Given the description of an element on the screen output the (x, y) to click on. 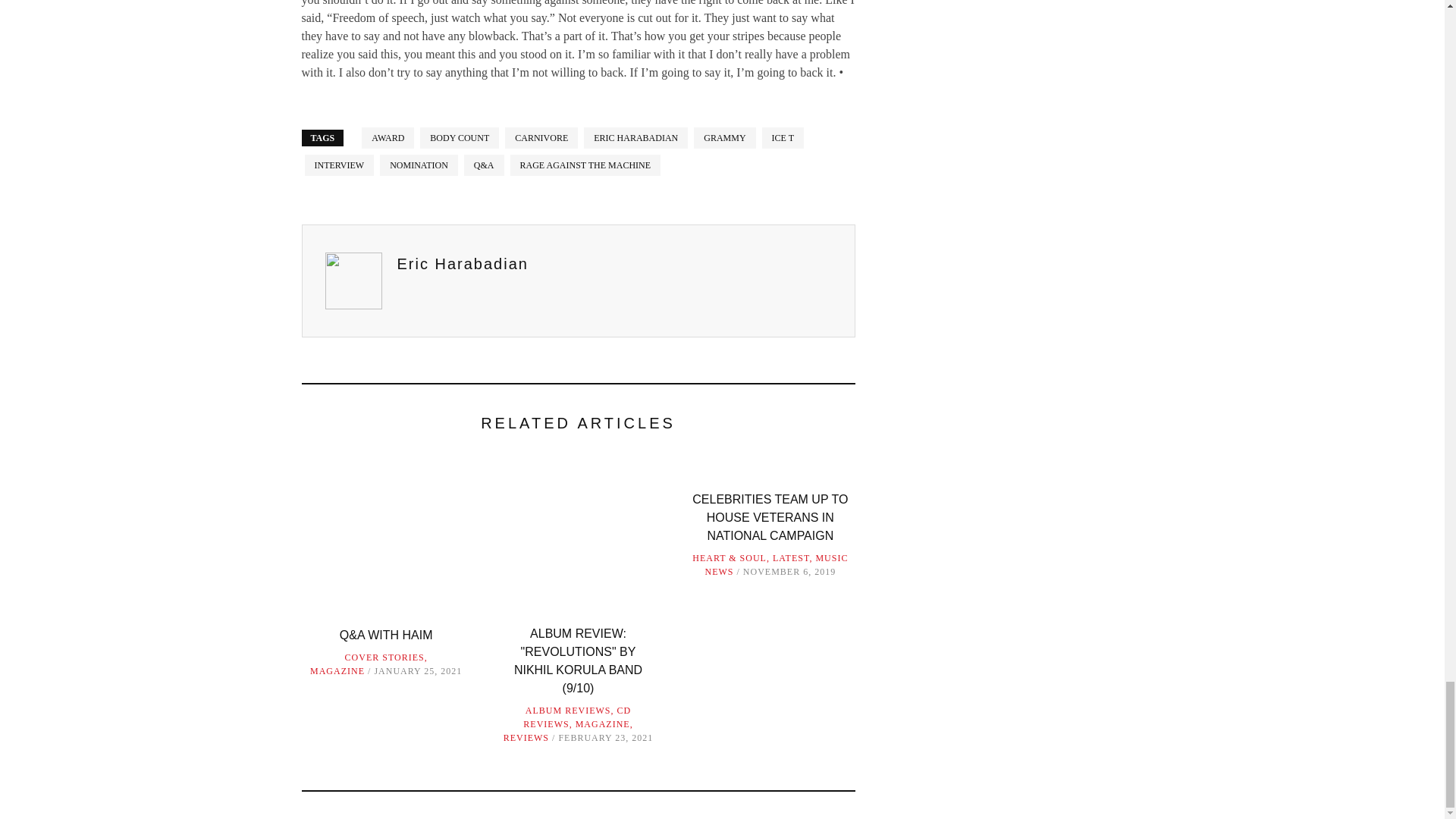
View all posts tagged rage against the machine (586, 165)
View all posts tagged nomination (419, 165)
View all posts tagged eric harabadian (635, 137)
View all posts tagged carnivore (541, 137)
View all posts tagged interview (339, 165)
View all posts tagged body count (459, 137)
View all posts tagged Award (387, 137)
View all posts tagged Grammy (724, 137)
View all posts tagged ice t (782, 137)
